Given the description of an element on the screen output the (x, y) to click on. 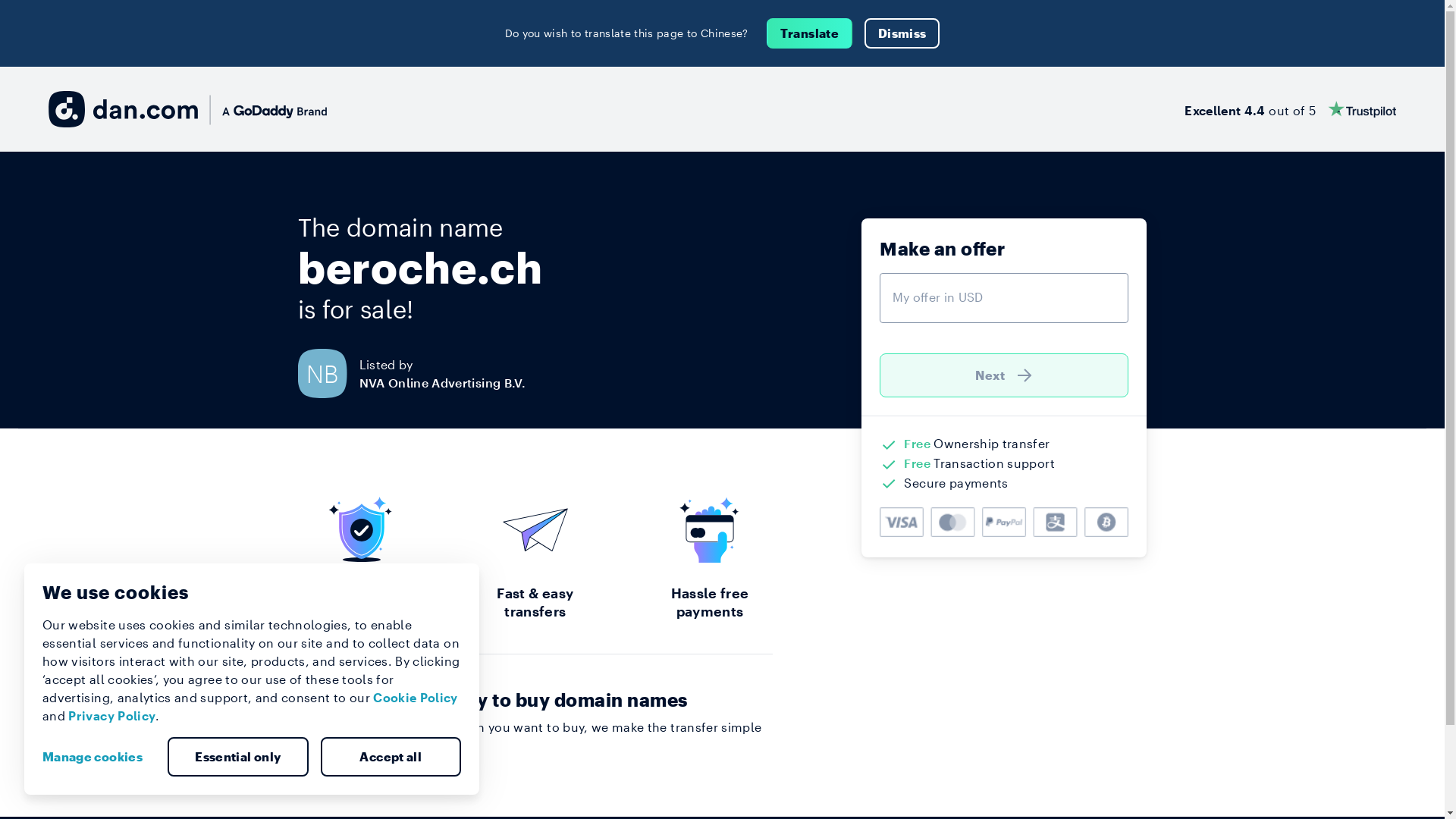
Privacy Policy Element type: text (111, 715)
Next
) Element type: text (1003, 375)
Translate Element type: text (809, 33)
Essential only Element type: text (237, 756)
Dismiss Element type: text (901, 33)
Excellent 4.4 out of 5 Element type: text (1290, 109)
Cookie Policy Element type: text (415, 697)
Manage cookies Element type: text (98, 756)
Accept all Element type: text (390, 756)
